Given the description of an element on the screen output the (x, y) to click on. 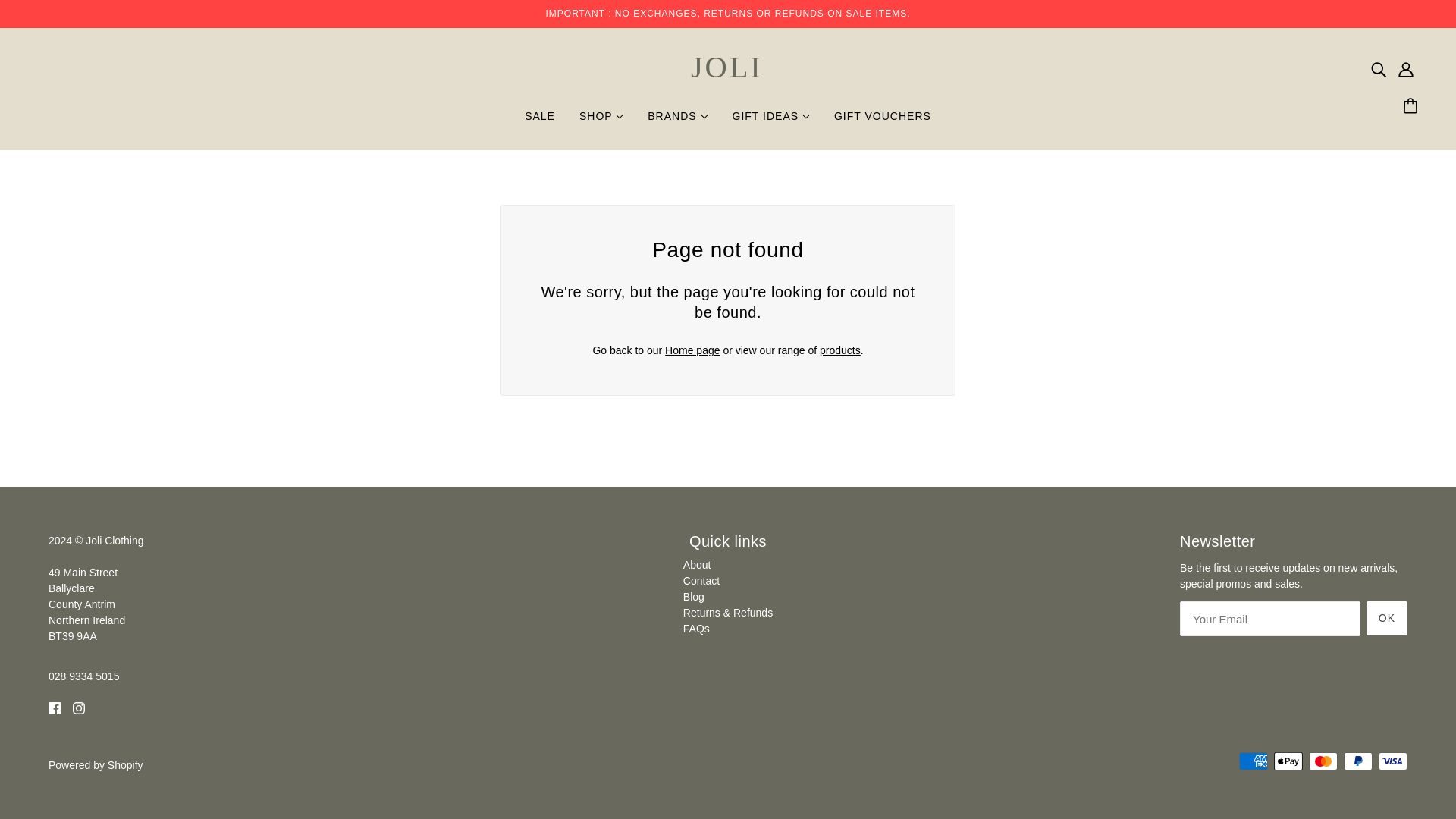
Blog (693, 596)
FAQs (696, 628)
JoliClothing (727, 81)
About (696, 564)
Contact (700, 580)
